Given the description of an element on the screen output the (x, y) to click on. 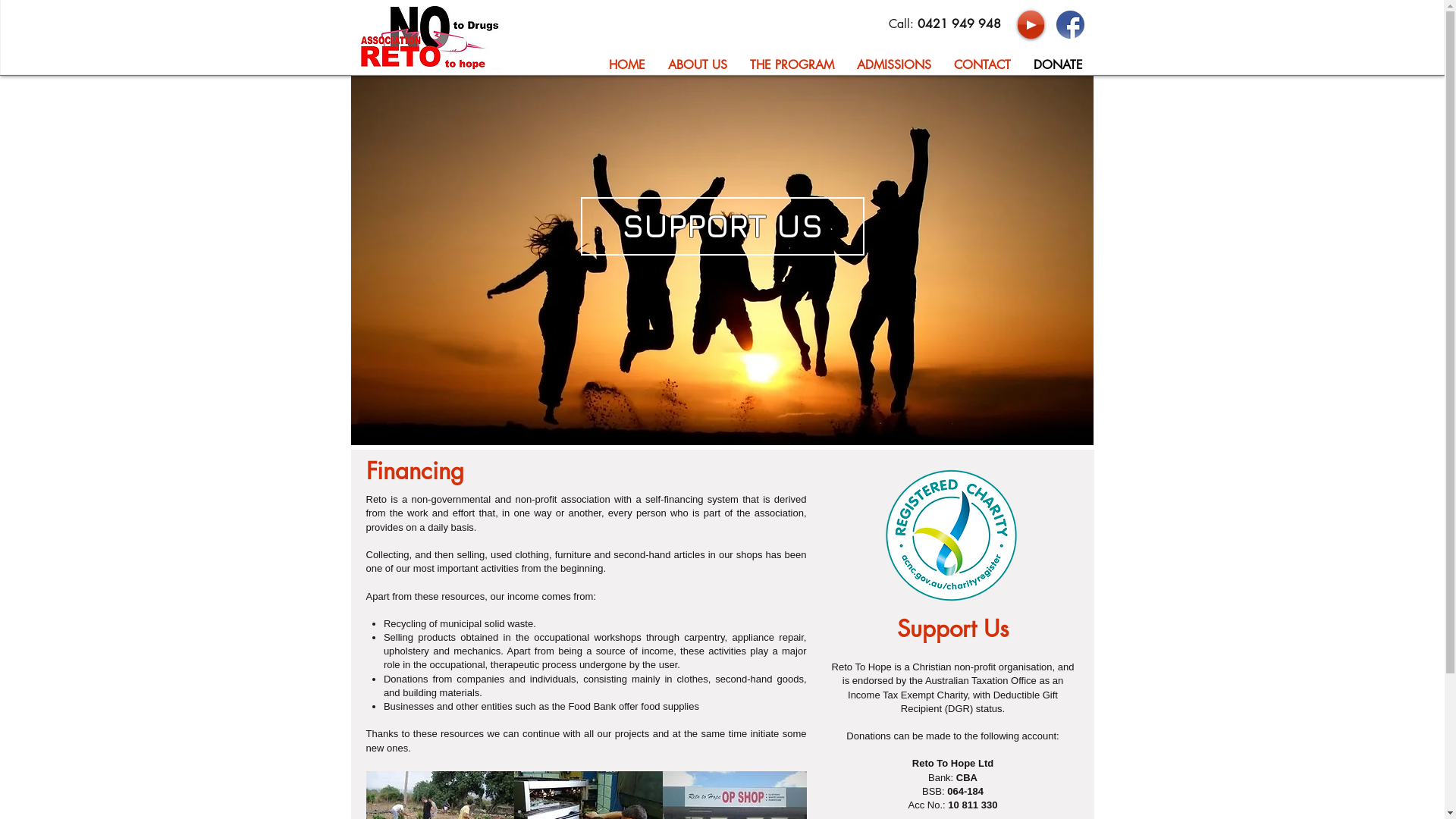
CONTACT Element type: text (981, 62)
THE PROGRAM Element type: text (791, 62)
HOME Element type: text (626, 62)
ADMISSIONS Element type: text (892, 62)
DONATE Element type: text (1058, 62)
ABOUT US Element type: text (697, 62)
